Given the description of an element on the screen output the (x, y) to click on. 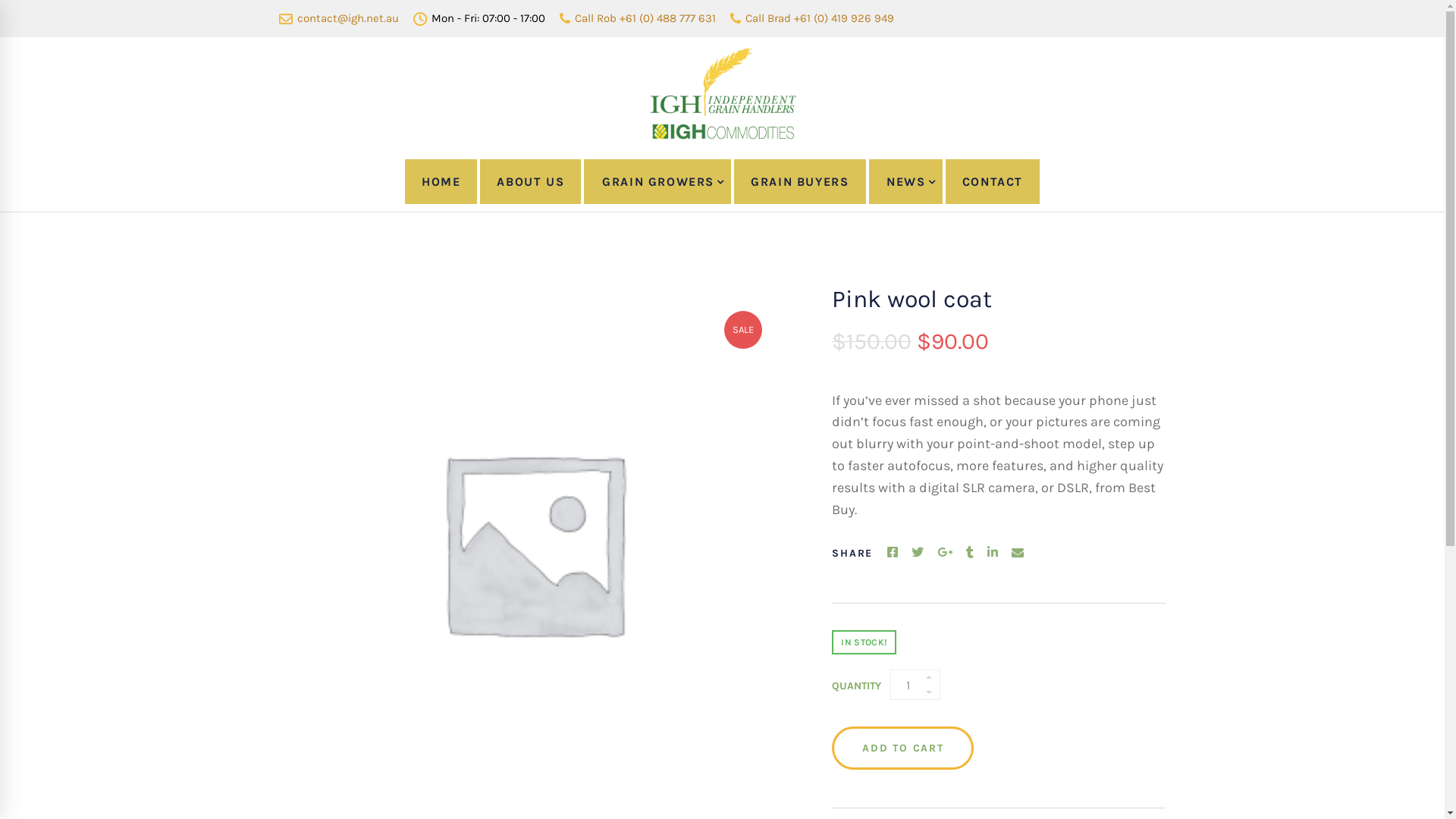
Call Rob +61 (0) 488 777 631 Element type: text (637, 18)
HOME Element type: text (440, 181)
GRAIN BUYERS Element type: text (799, 181)
+NEWS Element type: text (905, 181)
ADD TO CART Element type: text (902, 747)
+GRAIN GROWERS Element type: text (657, 181)
CONTACT Element type: text (992, 181)
Qty Element type: hover (915, 684)
ABOUT US Element type: text (530, 181)
contact@igh.net.au Element type: text (338, 18)
Call Brad +61 (0) 419 926 949 Element type: text (811, 18)
